Given the description of an element on the screen output the (x, y) to click on. 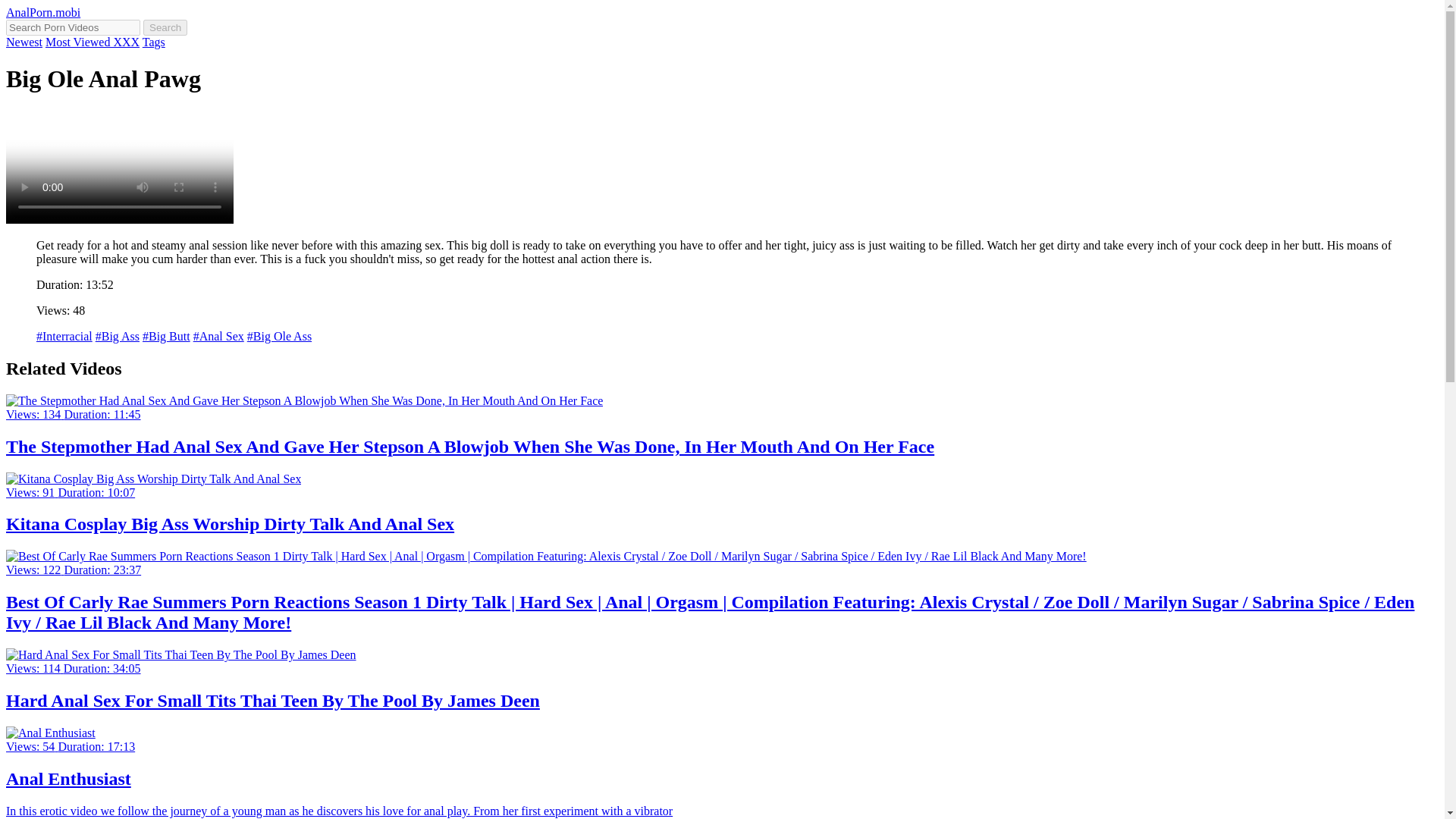
Anal Sex (218, 336)
Big Ass (117, 336)
AnalPorn.mobi (42, 11)
Interracial (64, 336)
Newest (23, 42)
Search (164, 27)
Free Anal Porn Videos (42, 11)
Most Viewed XXX (92, 42)
Tags (153, 42)
Tags (153, 42)
Big Butt (166, 336)
Big Ole Anal Pawg (118, 166)
Newest (23, 42)
Most Viewed XXX (92, 42)
Big Ole Ass (279, 336)
